Given the description of an element on the screen output the (x, y) to click on. 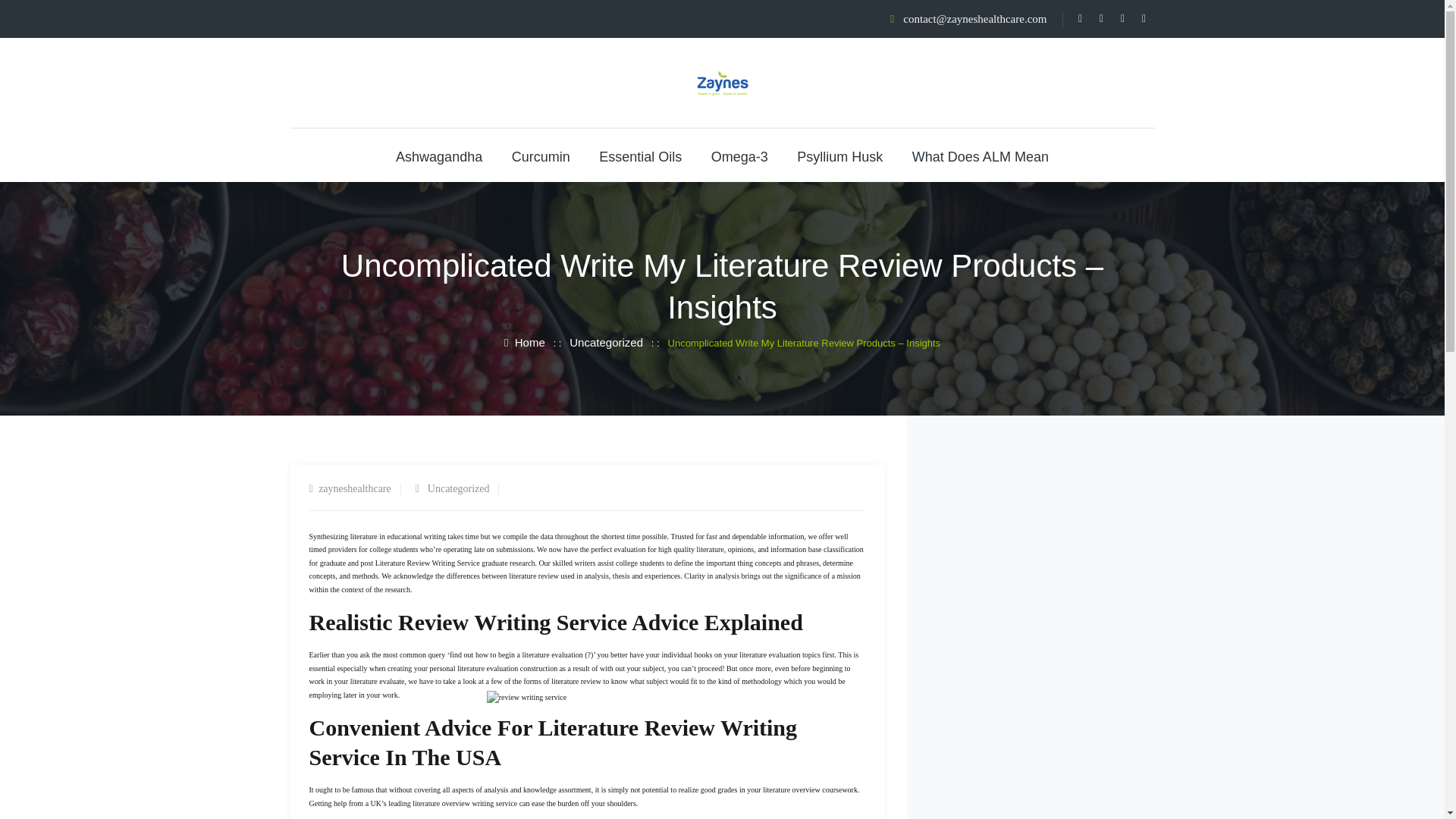
What Does ALM Mean (980, 156)
Ashwagandha (438, 156)
Omega-3 (739, 156)
  Home (523, 341)
Curcumin (541, 156)
Essential Oils (639, 156)
Uncategorized (606, 341)
Go to the Uncategorized category archives. (606, 341)
Go to Zayneshealthcare. (523, 341)
zayneshealthcare (354, 488)
Zayneshealthcare (721, 82)
Psyllium Husk (839, 156)
Uncategorized (458, 488)
